Given the description of an element on the screen output the (x, y) to click on. 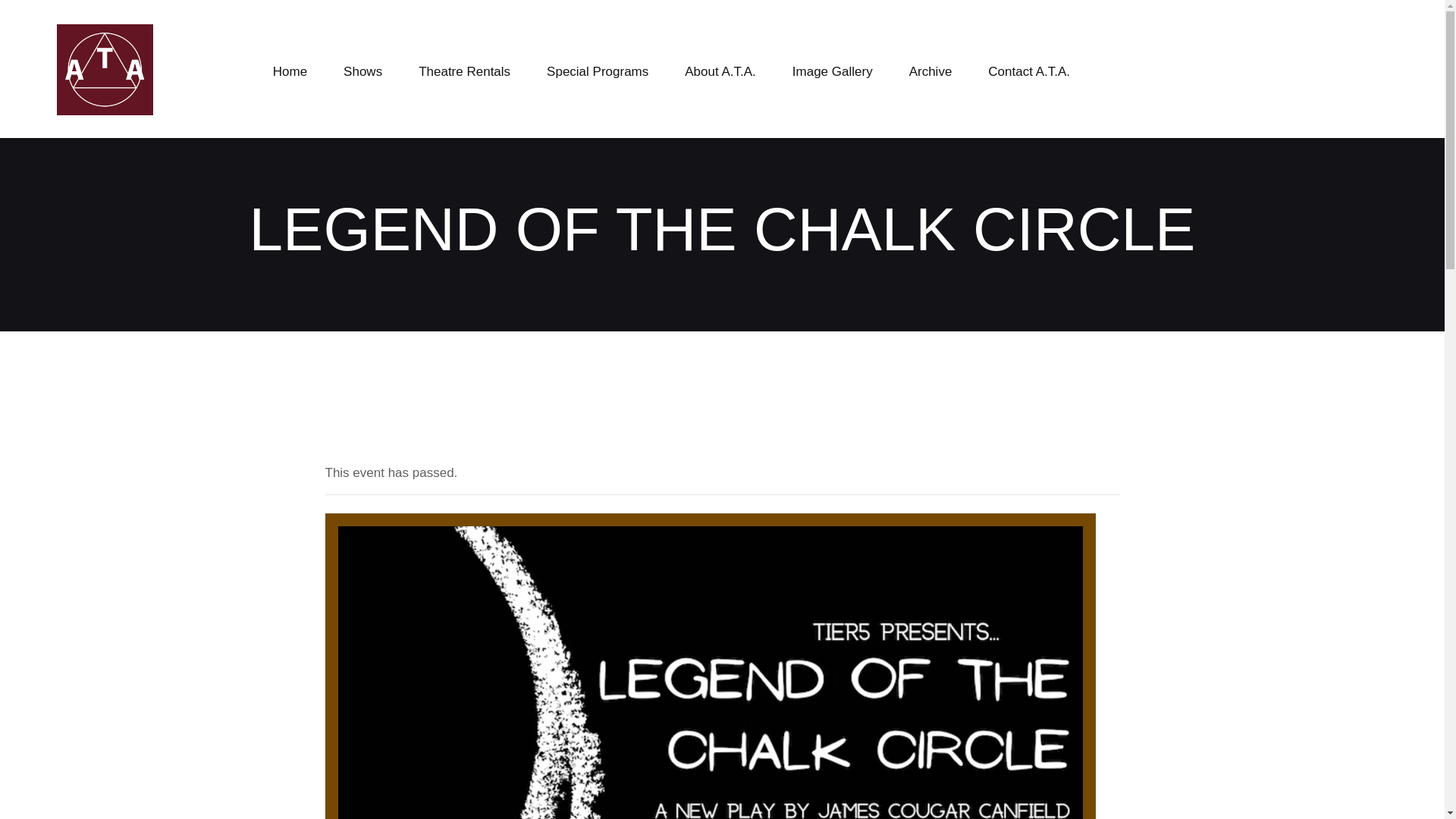
Home (290, 72)
Contact A.T.A. (1029, 72)
Special Programs (597, 72)
About A.T.A. (719, 72)
Theatre Rentals (464, 72)
Shows (362, 72)
Archive (930, 72)
Image Gallery (831, 72)
